Given the description of an element on the screen output the (x, y) to click on. 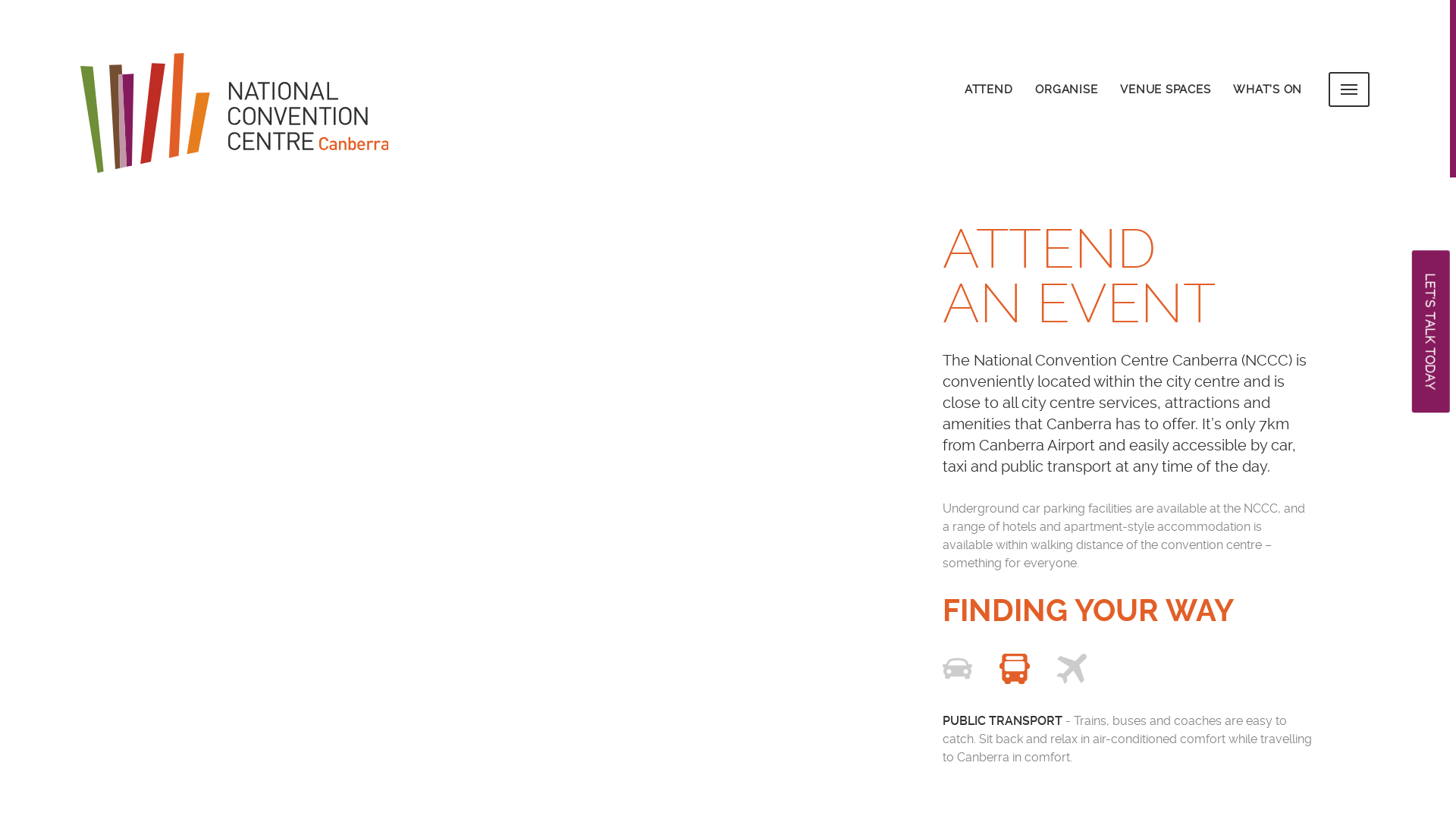
By Car Element type: hover (957, 671)
National Convention Centre Canberra Element type: hover (250, 115)
VENUE SPACES Element type: text (1165, 88)
ORGANISE Element type: text (1066, 88)
By Plane Element type: hover (1071, 671)
By Public Transport Element type: hover (1014, 671)
ATTEND Element type: text (988, 88)
